Given the description of an element on the screen output the (x, y) to click on. 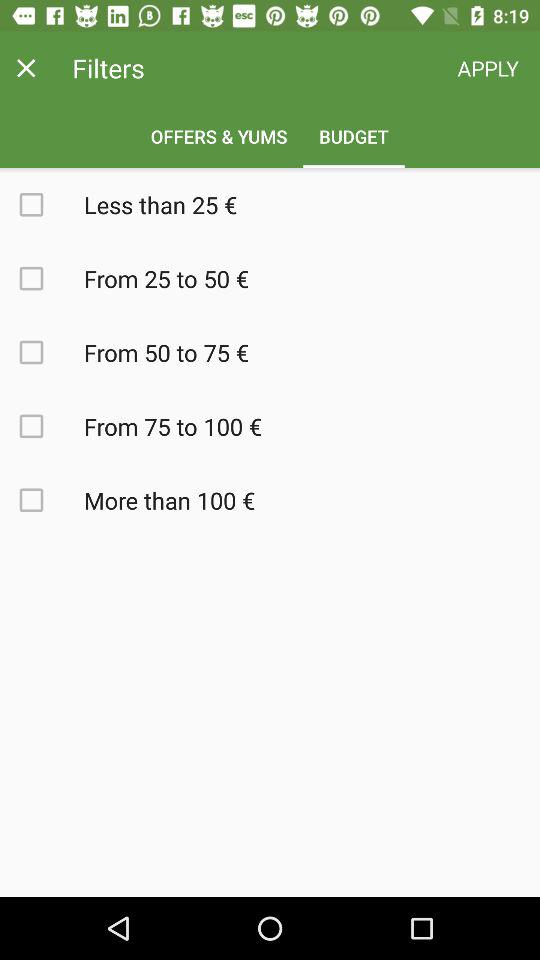
from 50 to 70 pound option (41, 352)
